Given the description of an element on the screen output the (x, y) to click on. 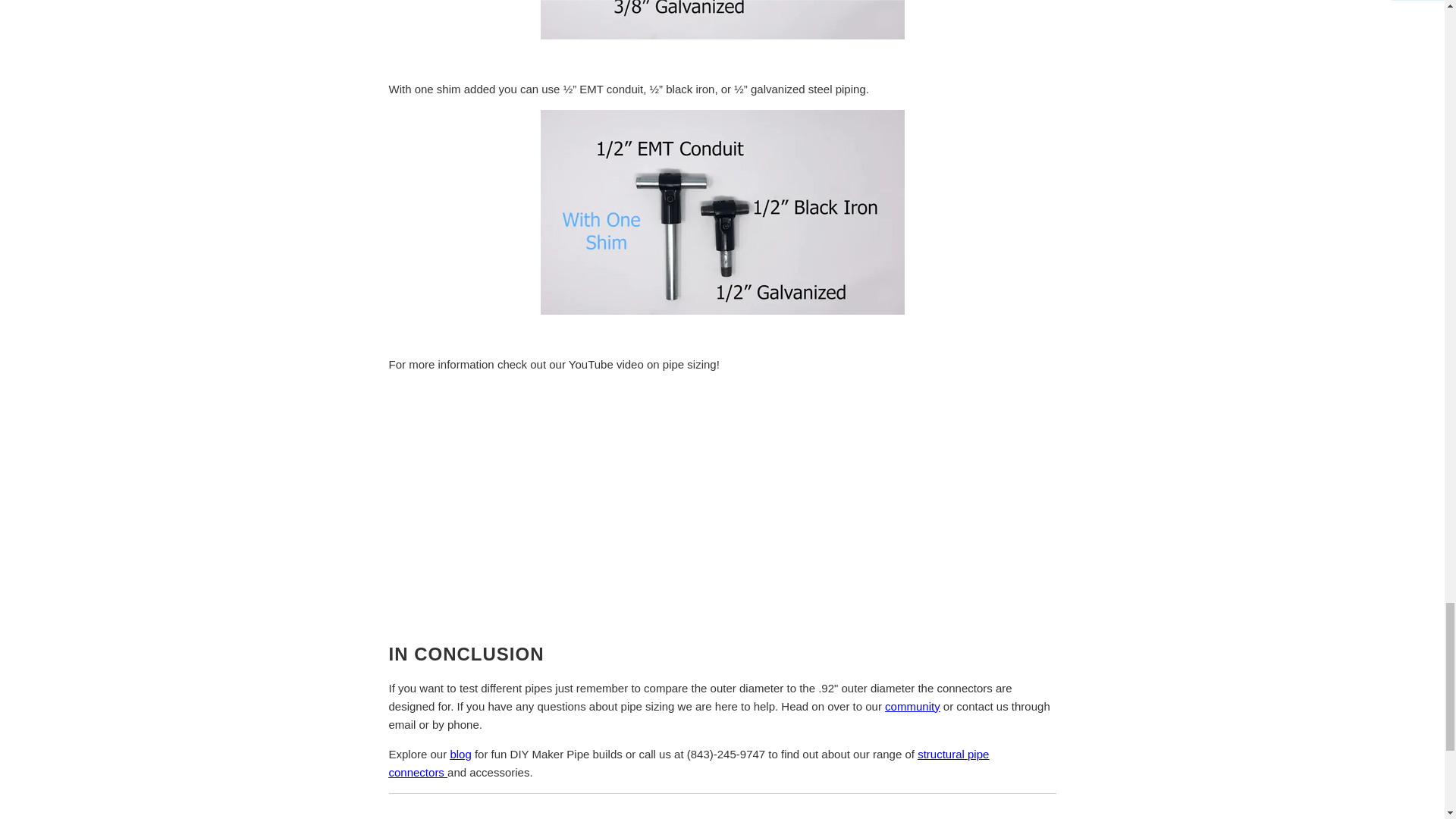
Maker Pipe Blogs (459, 753)
structural pipe connectors (688, 762)
Maker Pipe Connect - A DIY Community (912, 706)
